Given the description of an element on the screen output the (x, y) to click on. 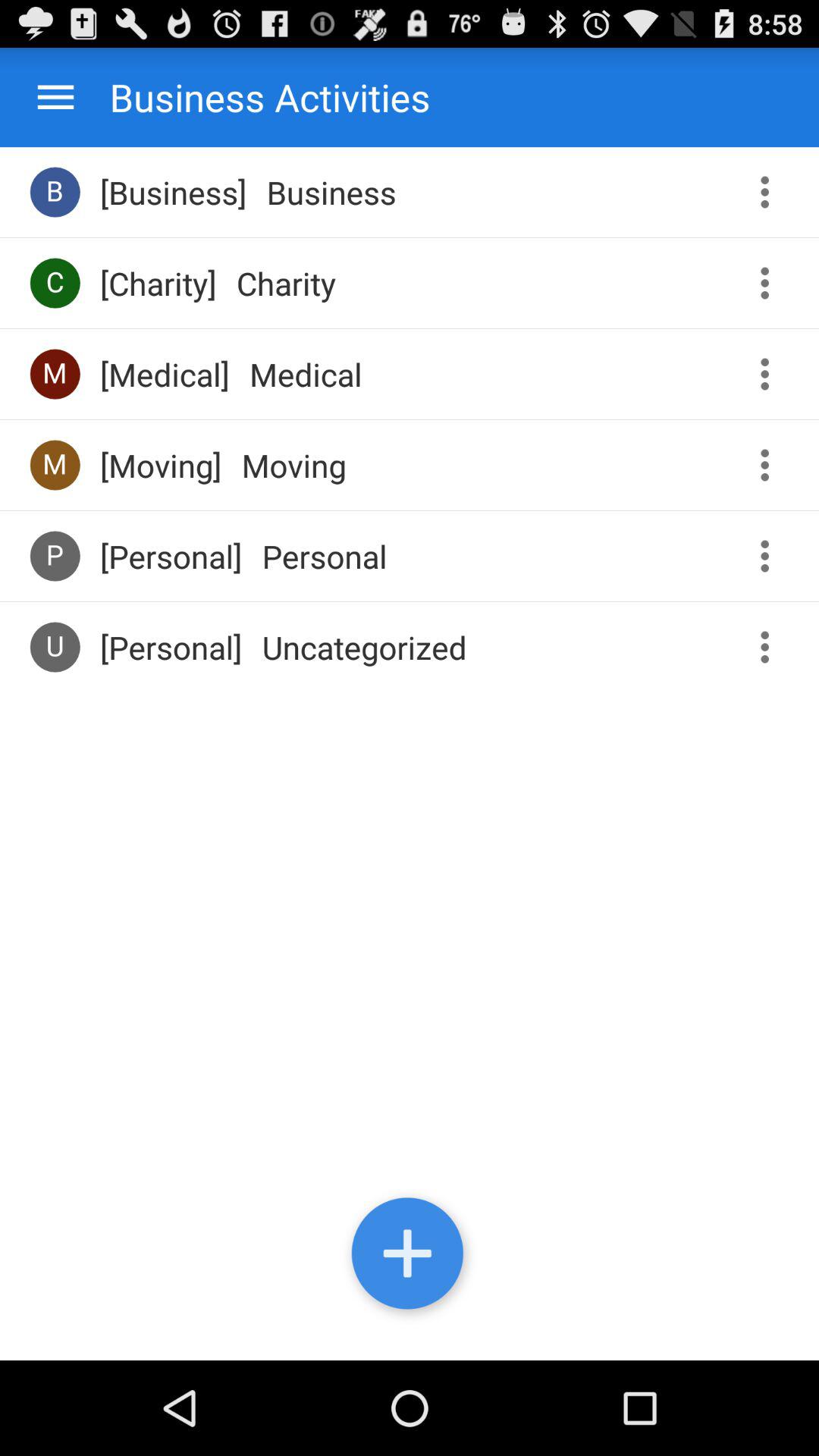
click the app above the b icon (55, 97)
